Given the description of an element on the screen output the (x, y) to click on. 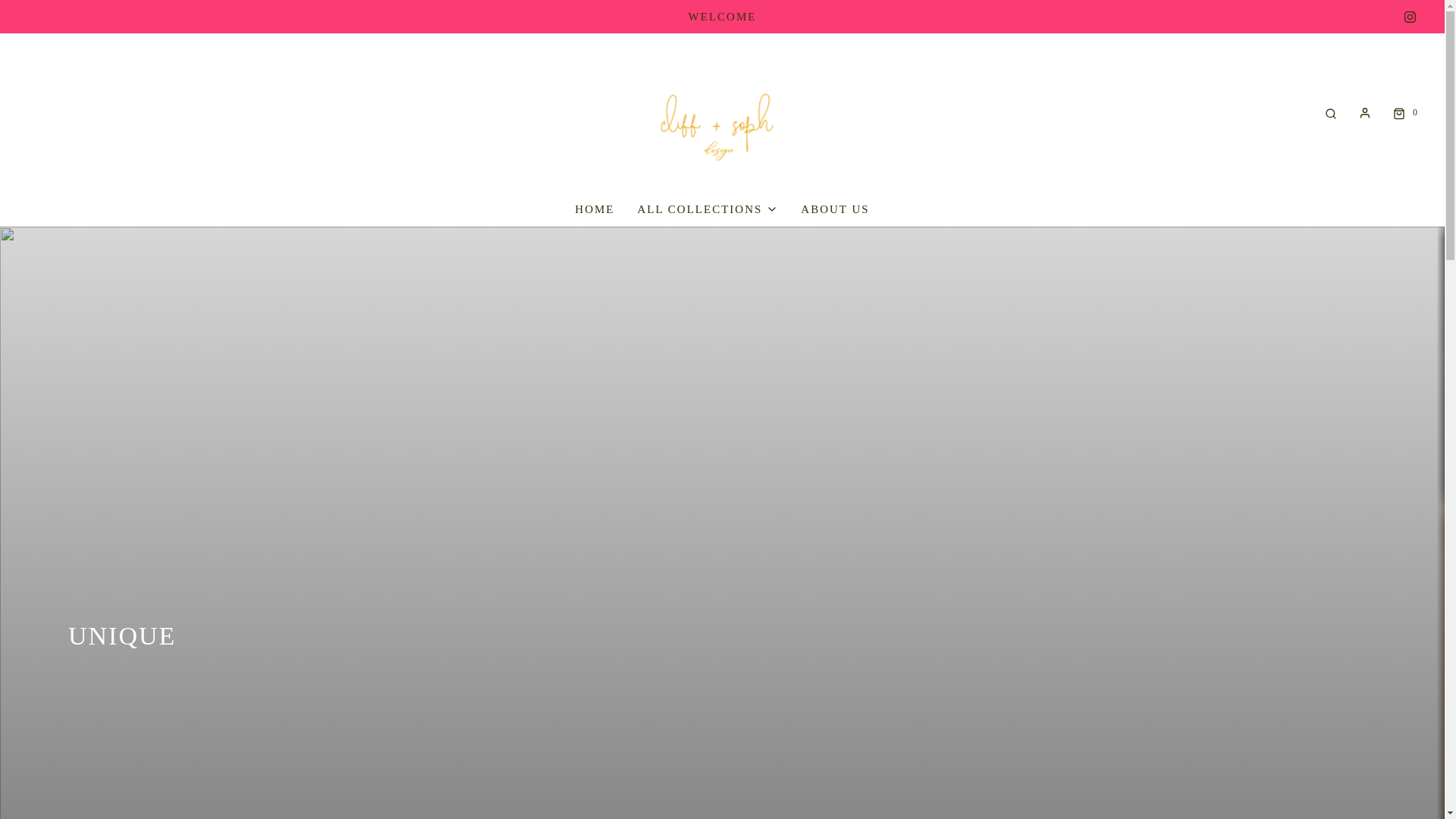
0 (1404, 112)
INSTAGRAM ICON (1410, 16)
INSTAGRAM ICON (1409, 15)
Search (1330, 112)
Cart (1404, 112)
Log in (1364, 112)
HOME (594, 209)
ALL COLLECTIONS (707, 209)
